Given the description of an element on the screen output the (x, y) to click on. 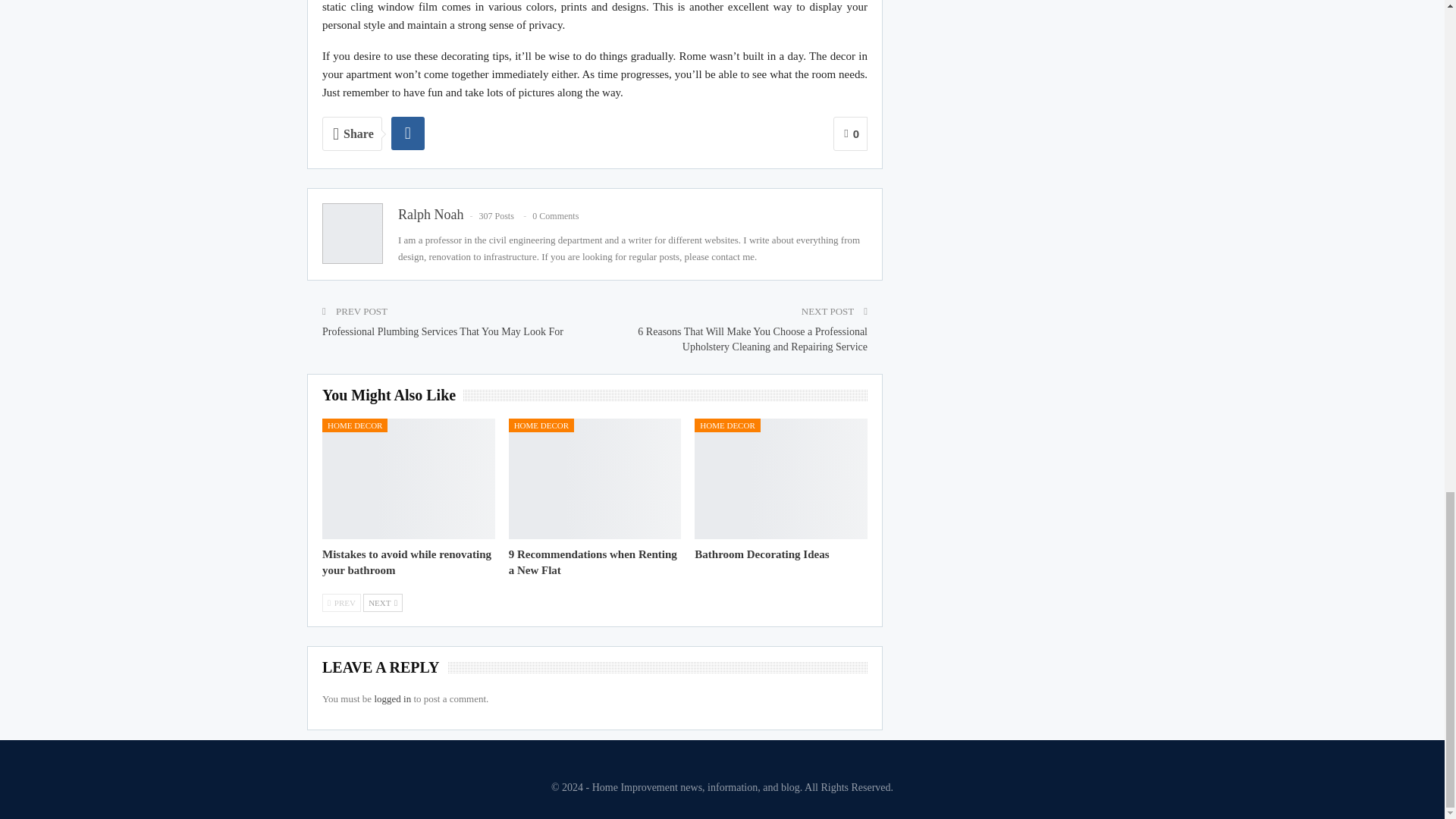
9 Recommendations when Renting a New Flat (594, 478)
Professional Plumbing Services That You May Look For (442, 331)
Mistakes to avoid while renovating your bathroom (408, 478)
Bathroom Decorating Ideas (780, 478)
Bathroom Decorating Ideas (761, 553)
0 (849, 133)
Mistakes to avoid while renovating your bathroom (406, 561)
9 Recommendations when Renting a New Flat (592, 561)
HOME DECOR (354, 425)
Ralph Noah (430, 214)
Mistakes to avoid while renovating your bathroom (406, 561)
You Might Also Like (392, 395)
